Given the description of an element on the screen output the (x, y) to click on. 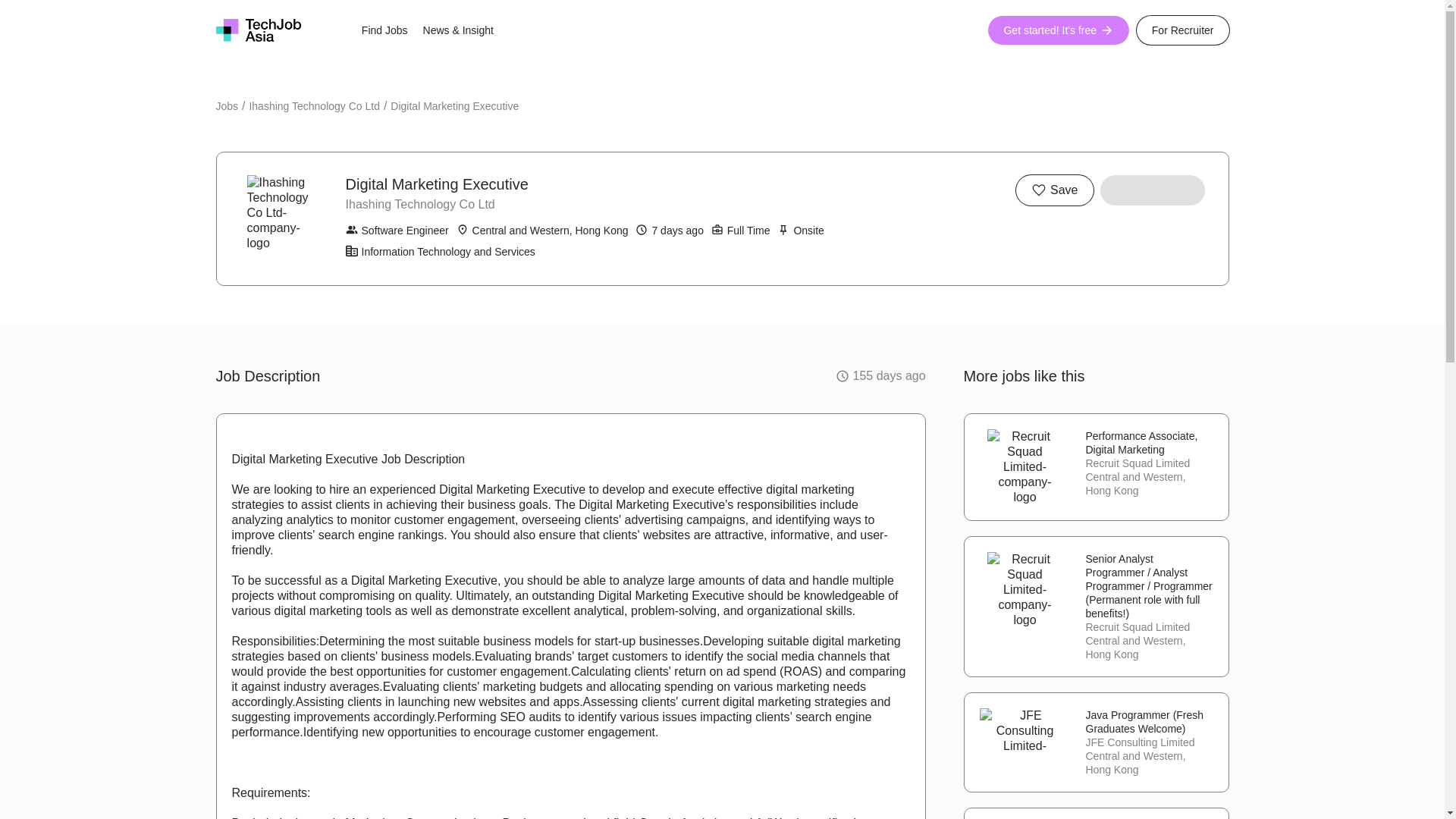
Find Jobs (384, 30)
Get started! It's free (1058, 30)
Jobs (226, 106)
For Recruiter (1182, 30)
Digital Marketing Executive (454, 106)
Performance Associate, Digital Marketing (1149, 442)
Ihashing Technology Co Ltd (314, 106)
Save (1054, 190)
Performance Associate, Digital Marketing (1149, 442)
